Given the description of an element on the screen output the (x, y) to click on. 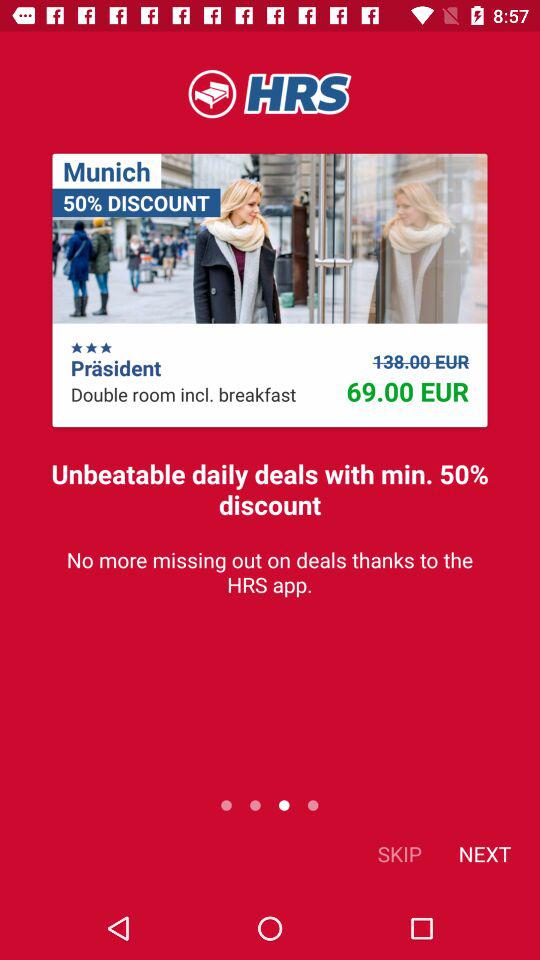
flip to the next icon (484, 853)
